Given the description of an element on the screen output the (x, y) to click on. 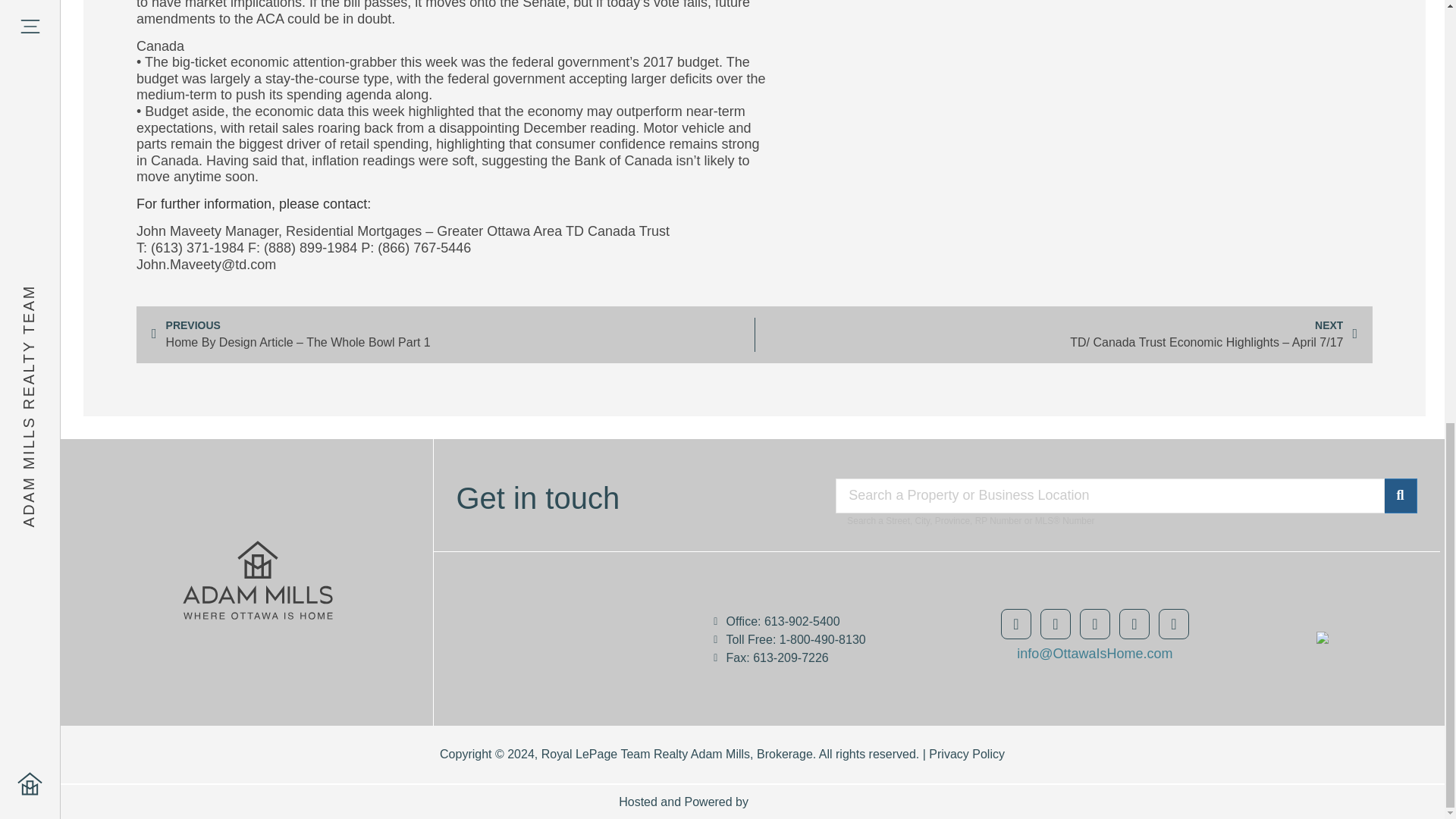
Office: 613-902-5400 (822, 621)
Adam Mills Realty Team (586, 632)
Fax: 613-209-7226 (822, 657)
Toll Free: 1-800-490-8130 (822, 639)
